Given the description of an element on the screen output the (x, y) to click on. 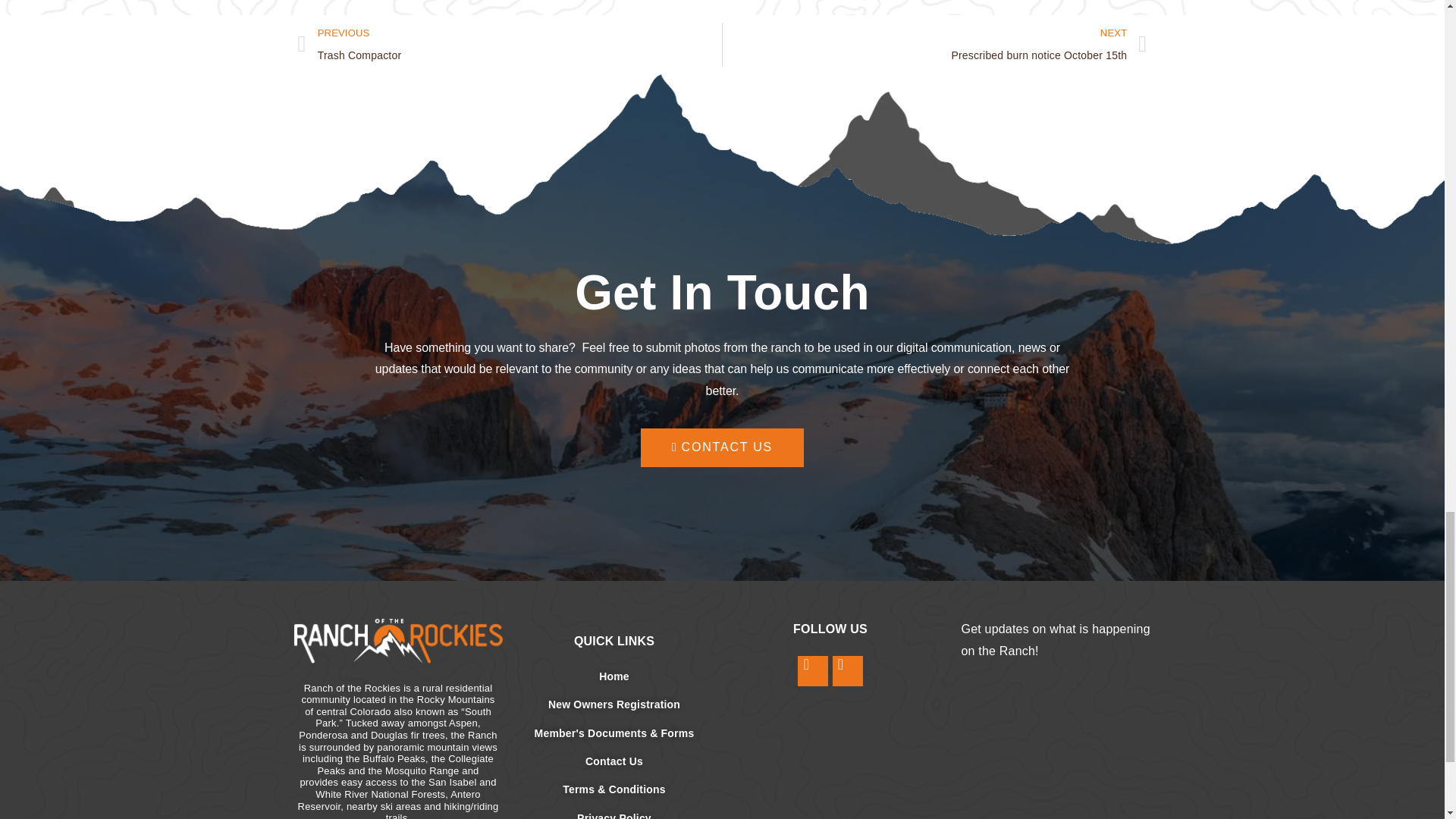
Home (613, 676)
CONTACT US (721, 447)
Privacy Policy (613, 814)
Contact Us (934, 44)
New Owners Registration (613, 760)
